Given the description of an element on the screen output the (x, y) to click on. 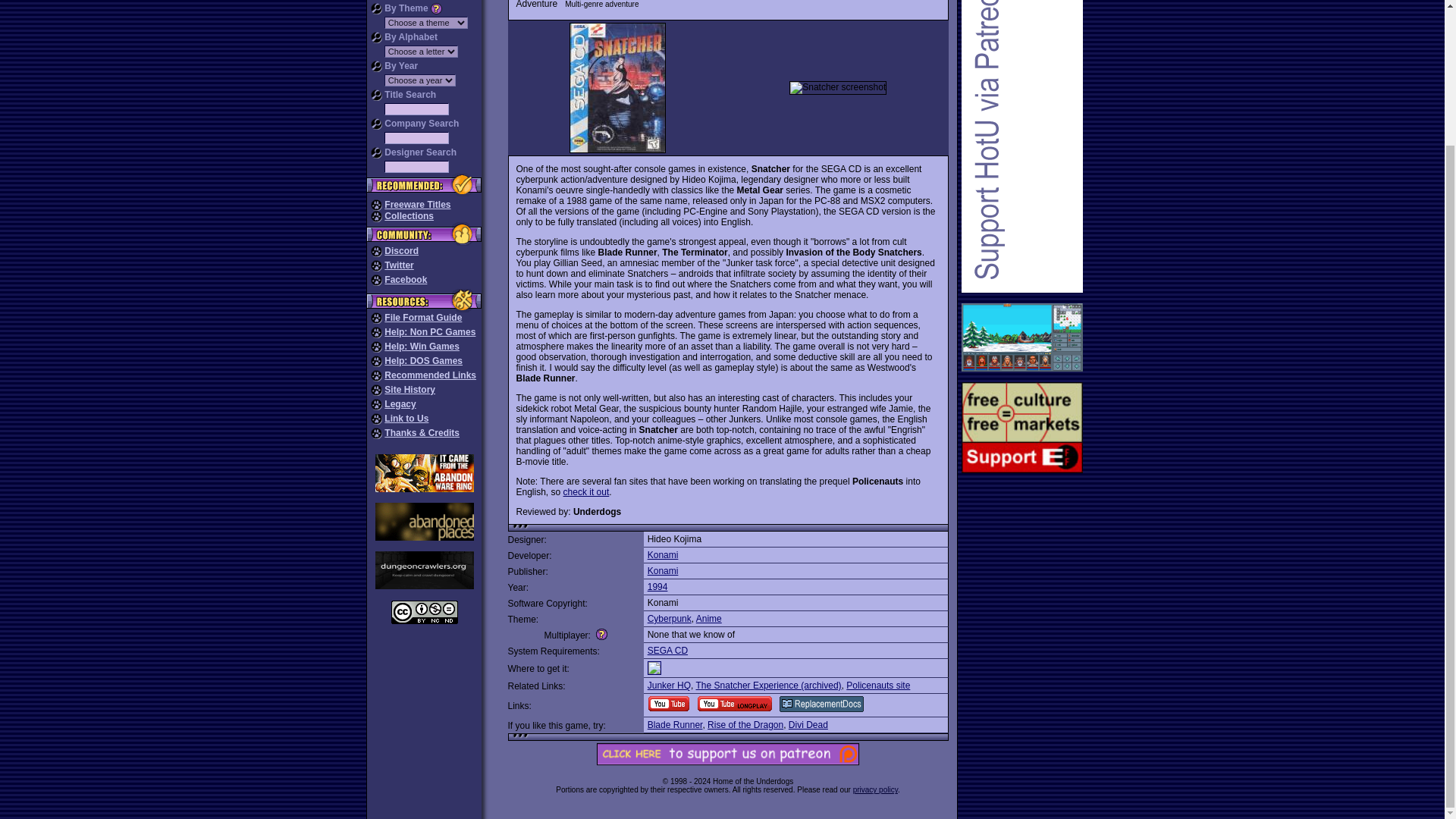
Link to Us (406, 418)
Discord (401, 250)
Recommended Links (430, 375)
Freeware Titles (416, 204)
File Format Guide (422, 317)
Site History (409, 389)
Collections (408, 215)
Facebook (405, 279)
Help: Win Games (422, 346)
Help: Non PC Games (430, 331)
Help: DOS Games (423, 360)
Twitter (398, 265)
Legacy (399, 403)
